Given the description of an element on the screen output the (x, y) to click on. 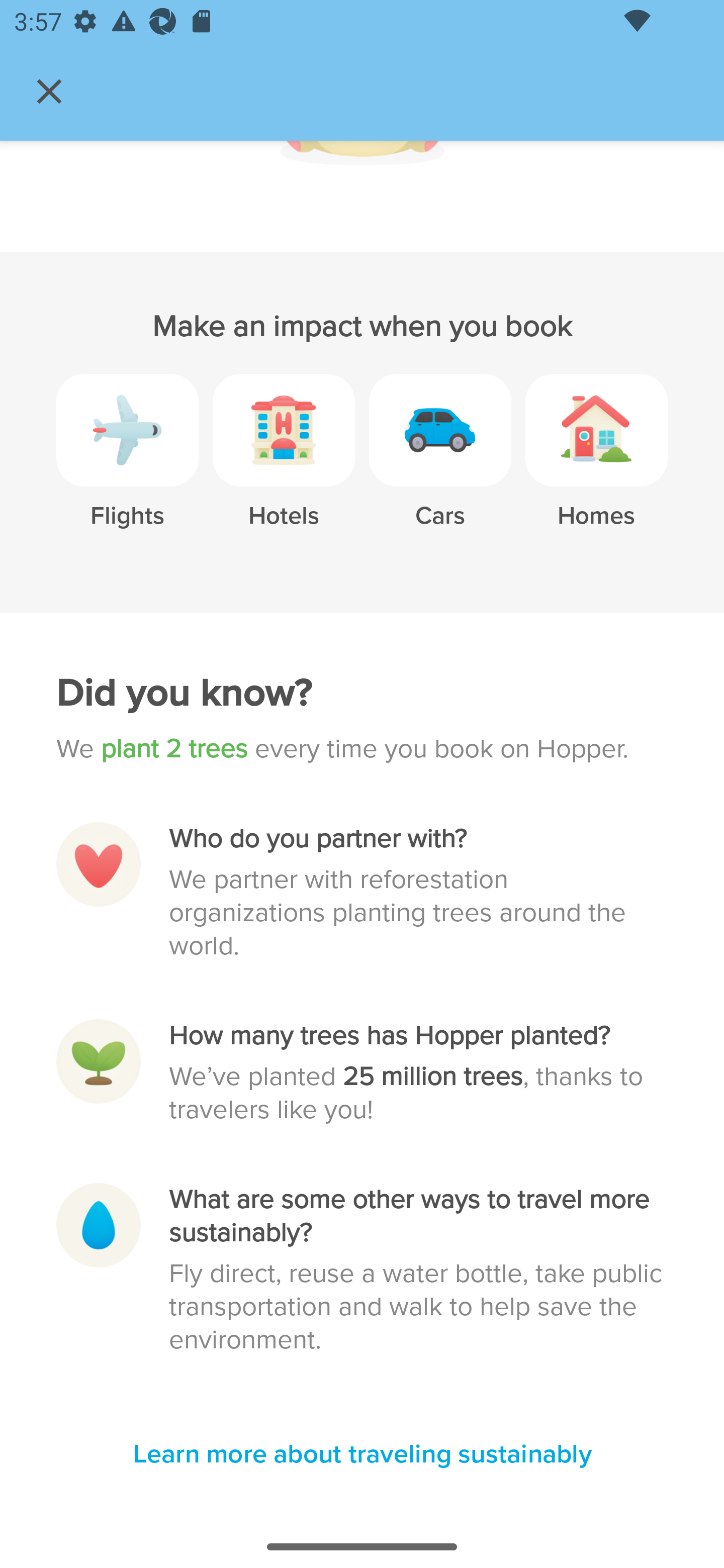
Navigate up (49, 91)
Flights (127, 464)
Hotels (283, 464)
Cars (440, 464)
Homes (596, 464)
‍Learn more about traveling sustainably (361, 1454)
